Given the description of an element on the screen output the (x, y) to click on. 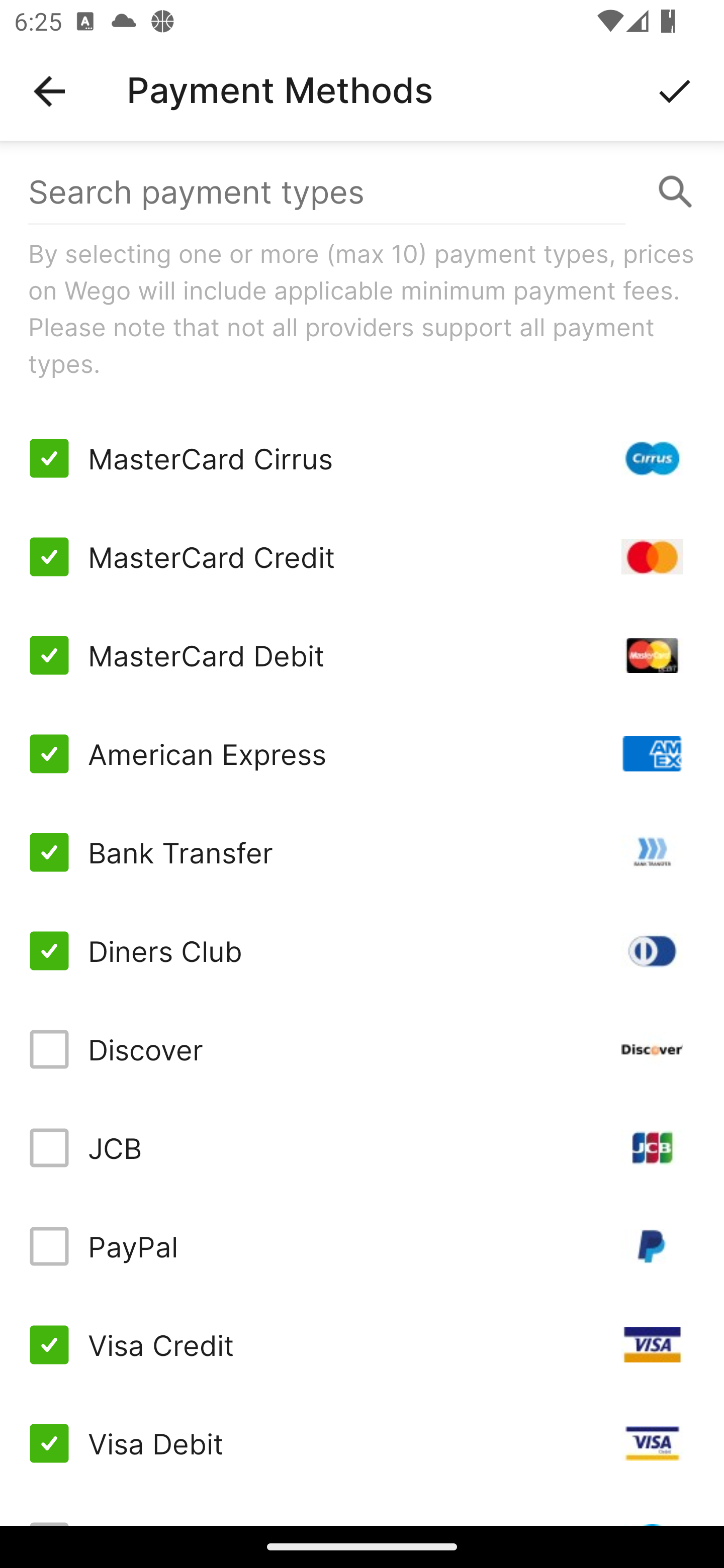
Search payment types  (361, 191)
MasterCard Cirrus (362, 458)
MasterCard Credit (362, 557)
MasterCard Debit (362, 655)
American Express (362, 753)
Bank Transfer (362, 851)
Diners Club (362, 950)
Discover (362, 1049)
JCB (362, 1147)
PayPal (362, 1245)
Visa Credit (362, 1344)
Visa Debit (362, 1442)
